Given the description of an element on the screen output the (x, y) to click on. 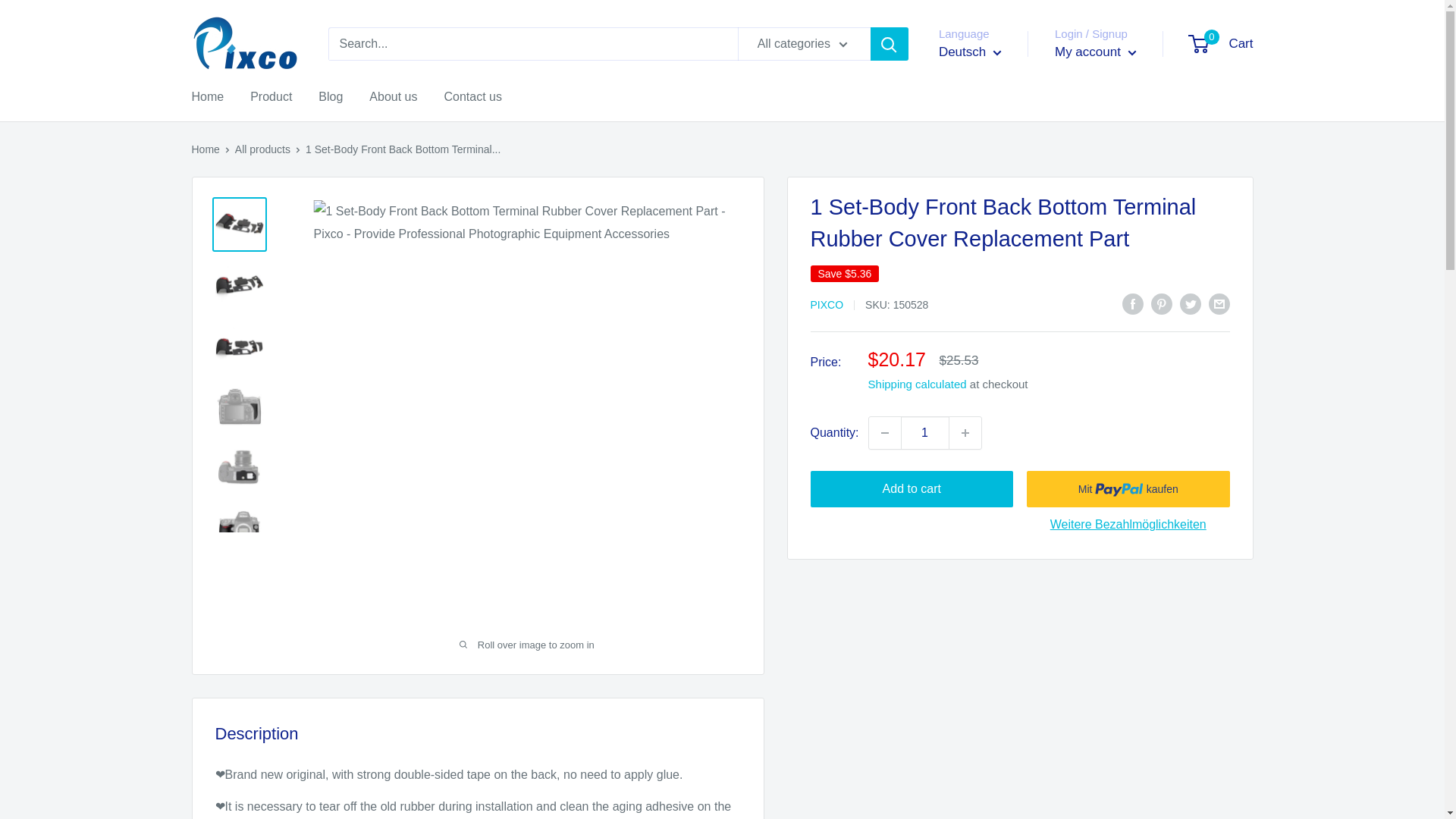
de (984, 116)
Home (204, 149)
Increase quantity by 1 (965, 432)
Decrease quantity by 1 (885, 432)
Deutsch (970, 52)
Blog (330, 96)
Product (1221, 43)
About us (271, 96)
1 (392, 96)
